Given the description of an element on the screen output the (x, y) to click on. 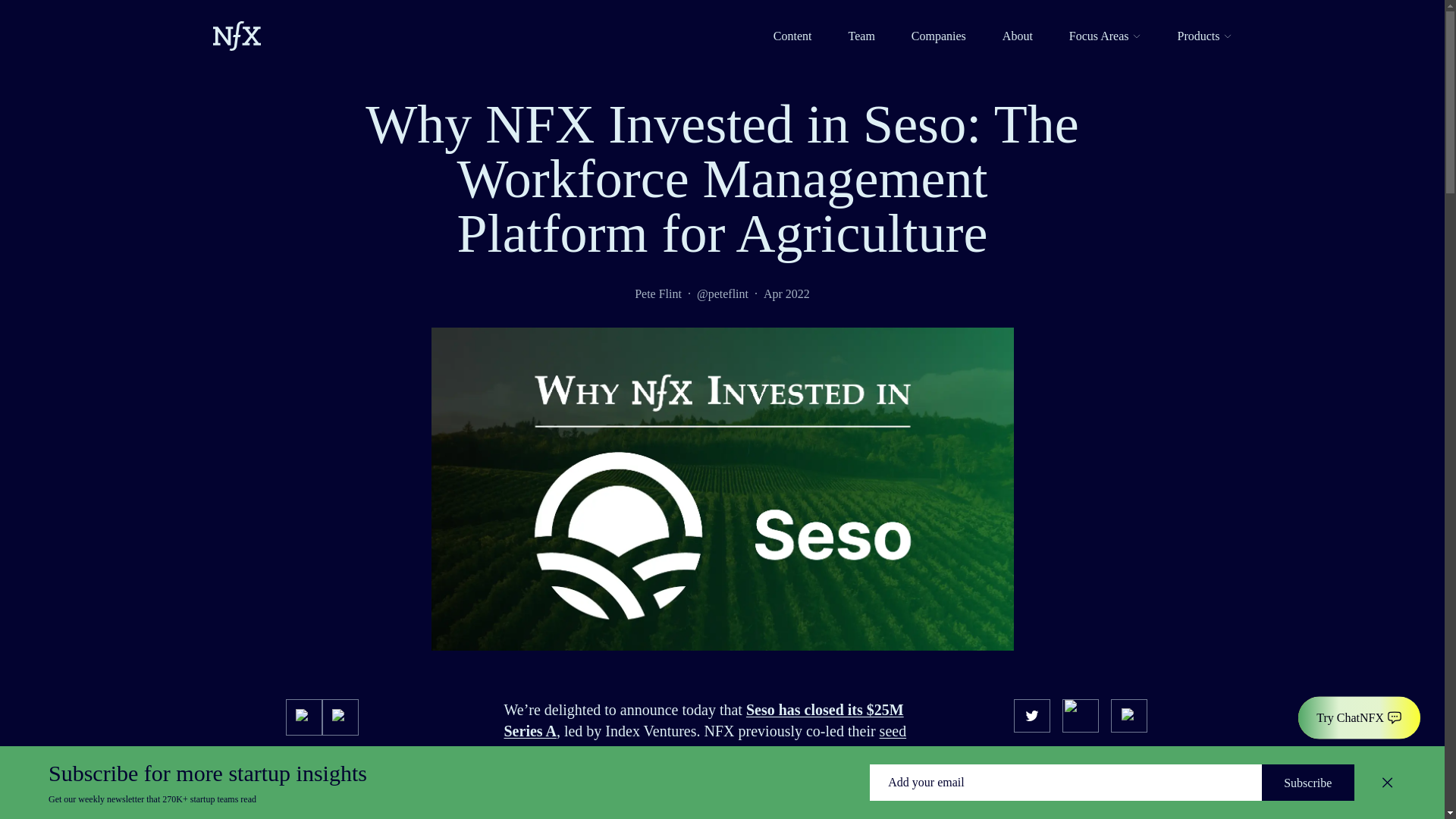
Content (792, 36)
1. Immigration is complicated (339, 814)
Products (1203, 36)
Team (861, 36)
Companies (938, 36)
Focus Areas (1104, 36)
About (1017, 36)
Pete Flint (657, 294)
